Given the description of an element on the screen output the (x, y) to click on. 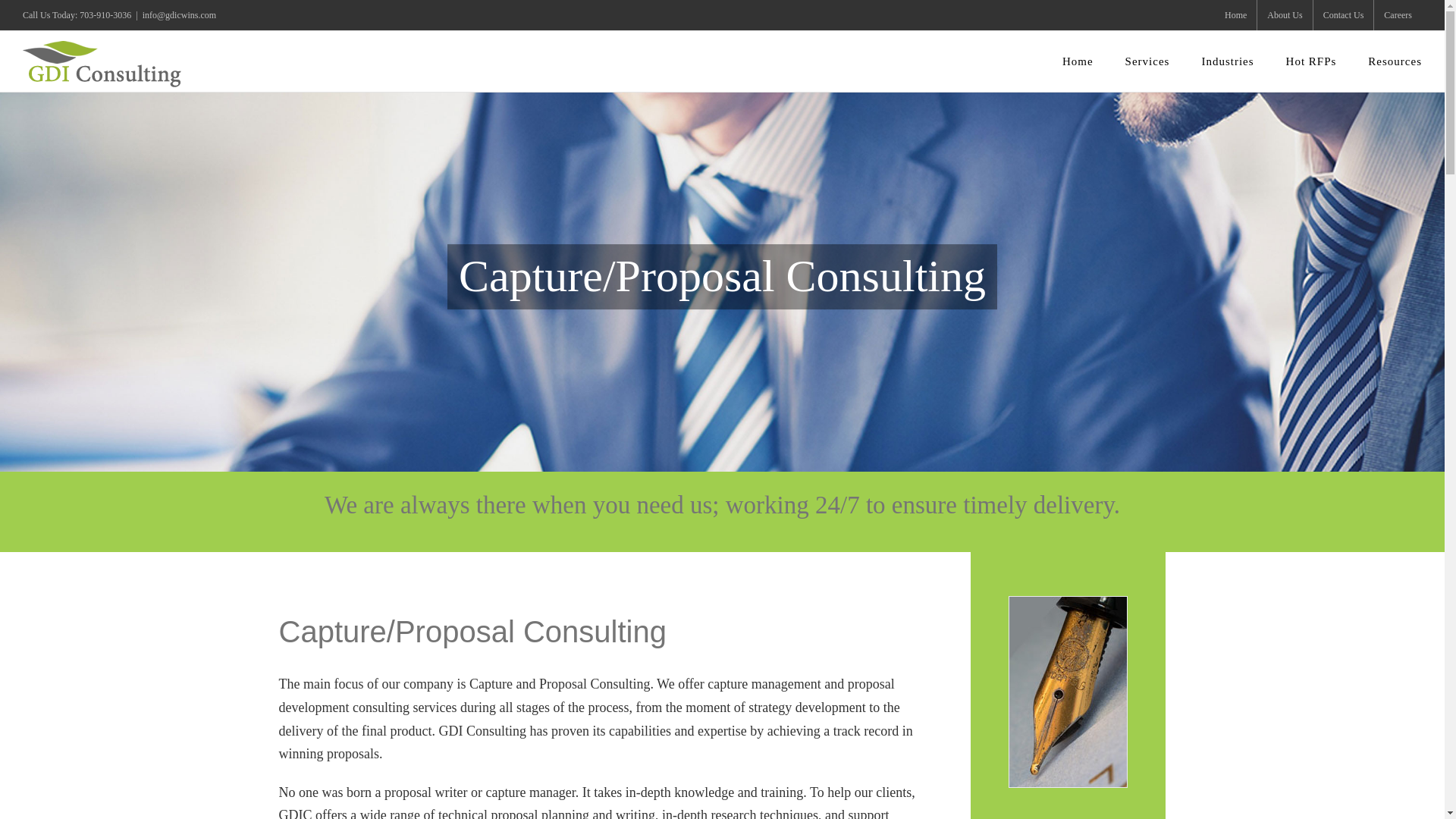
Careers (1398, 15)
703-910-3036 (105, 14)
Contact Us (1343, 15)
Home (1235, 15)
About Us (1284, 15)
